Given the description of an element on the screen output the (x, y) to click on. 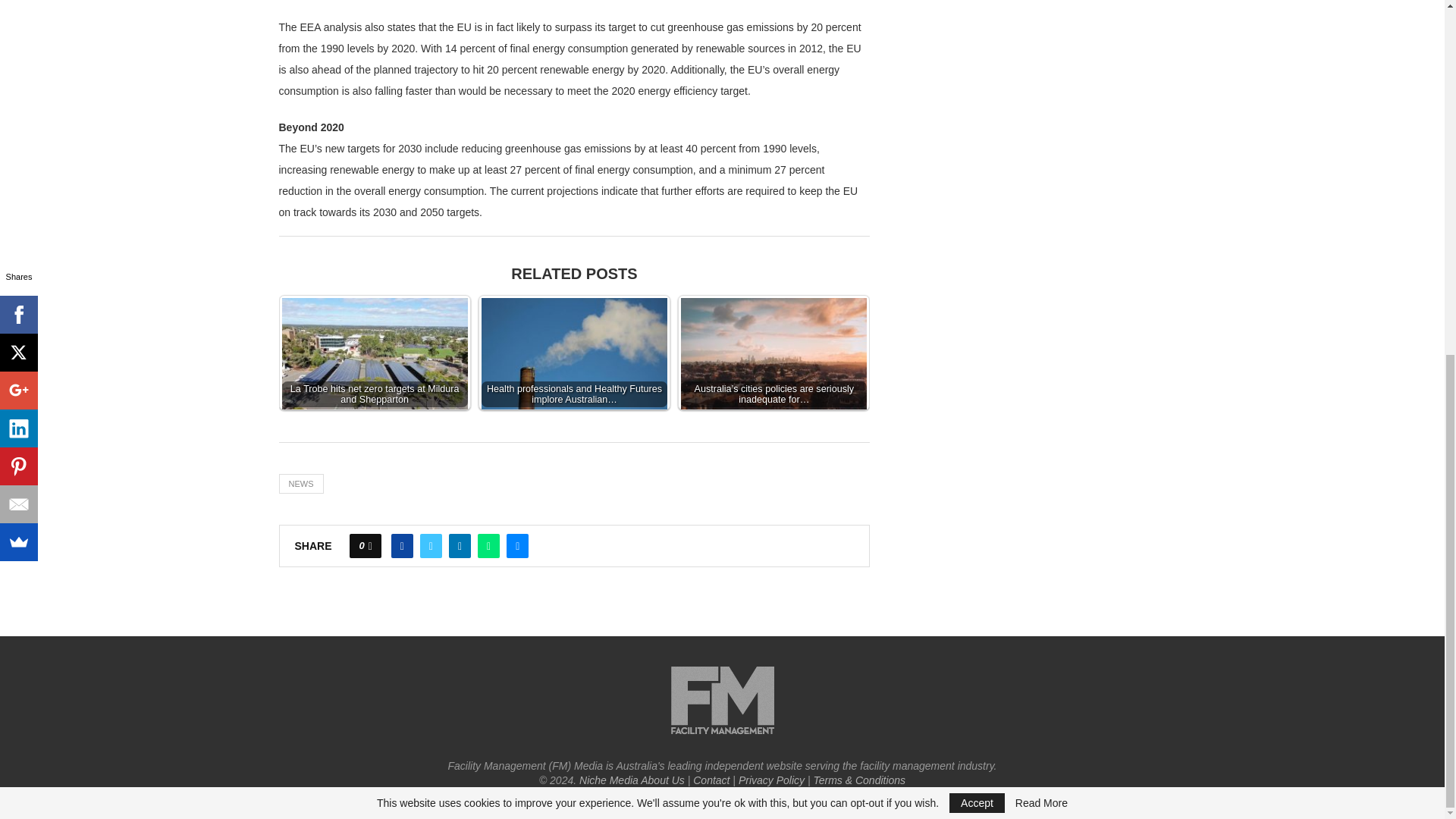
La Trobe hits net zero targets at Mildura and Shepparton (374, 359)
